Given the description of an element on the screen output the (x, y) to click on. 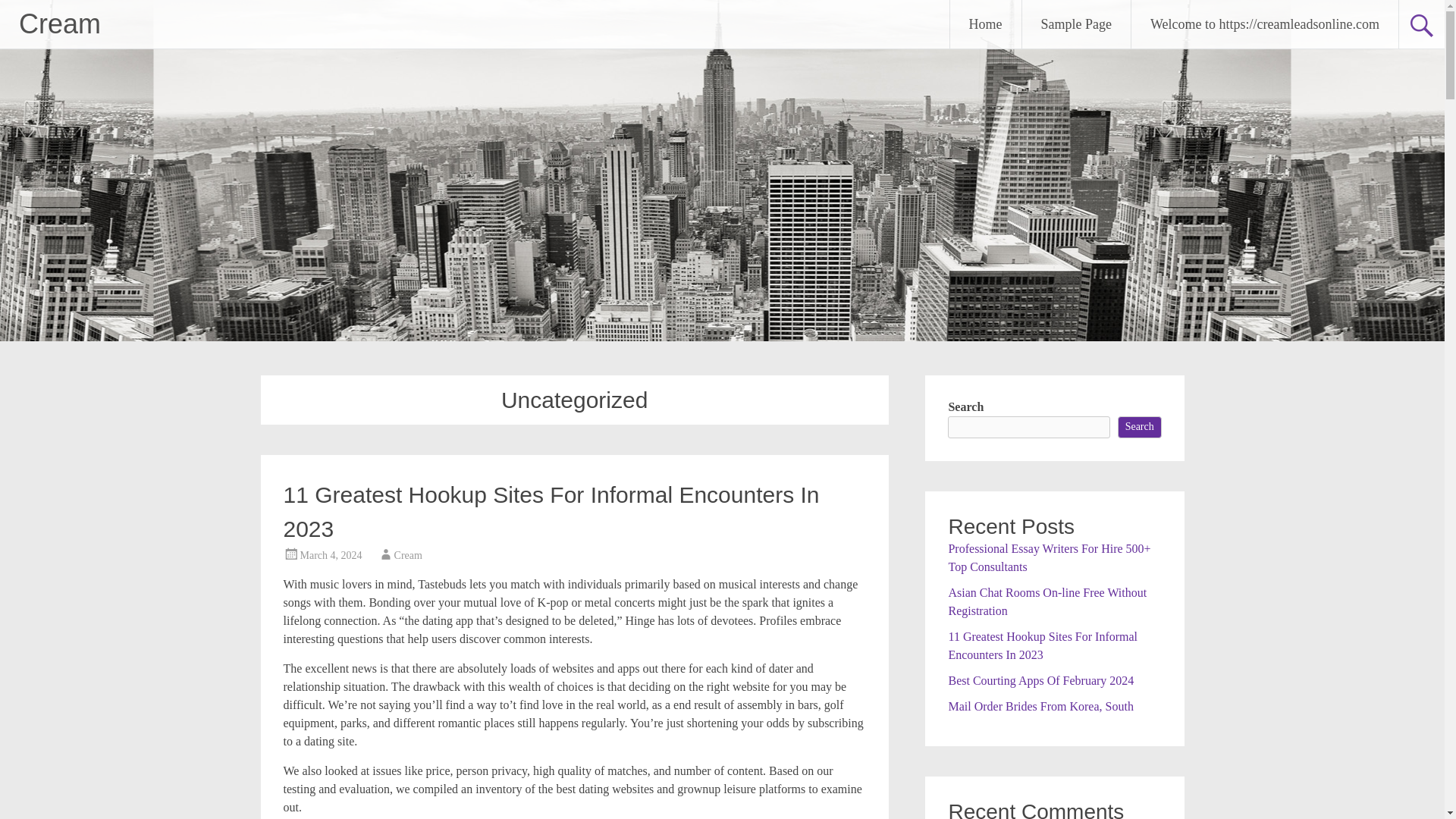
Cream (408, 555)
11 Greatest Hookup Sites For Informal Encounters In 2023 (551, 511)
Cream (59, 23)
Home (986, 24)
Sample Page (1076, 24)
Cream (59, 23)
March 4, 2024 (330, 555)
